Given the description of an element on the screen output the (x, y) to click on. 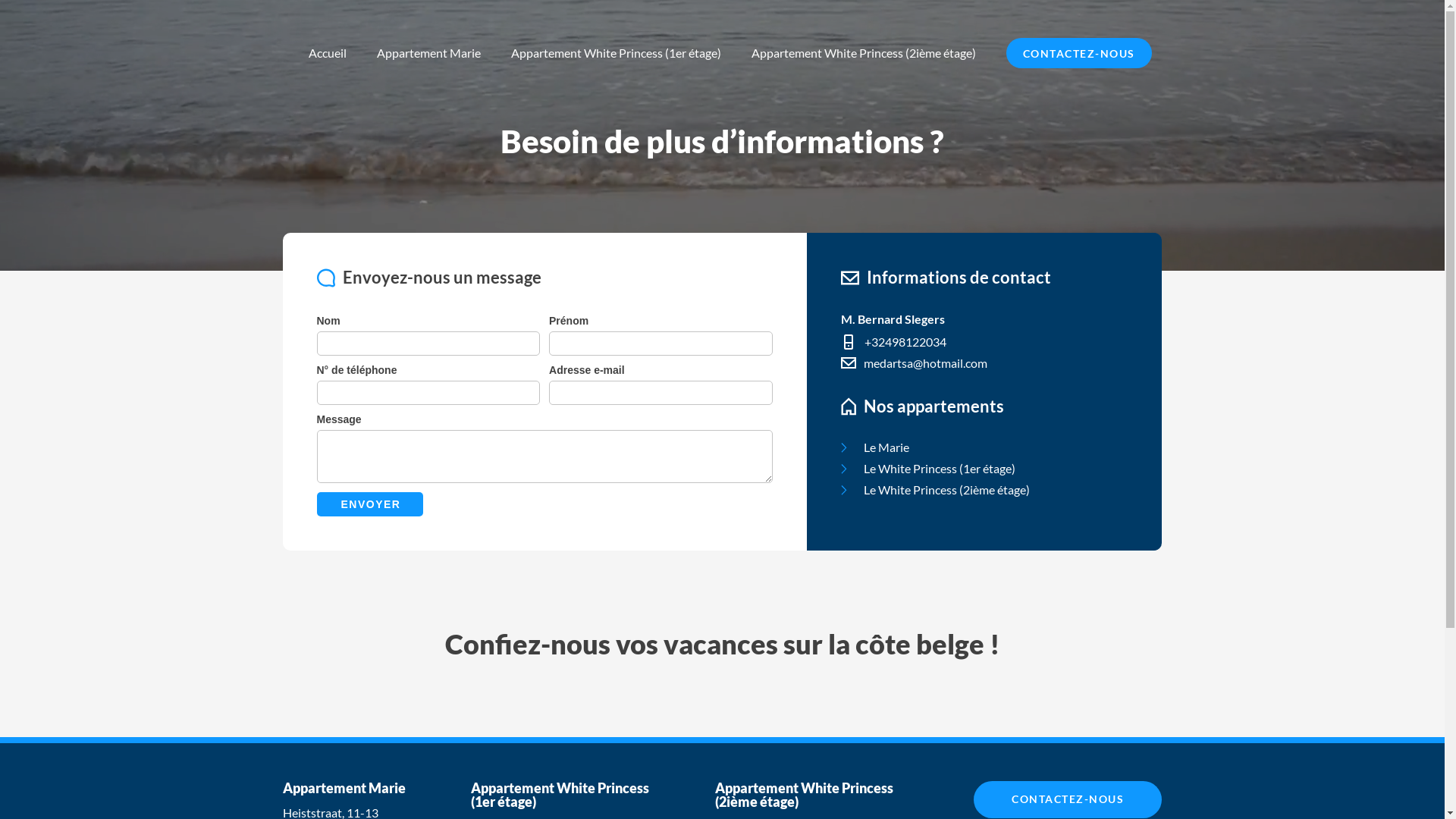
Appartement Marie Element type: text (427, 52)
CONTACTEZ-NOUS Element type: text (1067, 799)
CONTACTEZ-NOUS Element type: text (1078, 52)
Le Marie Element type: text (984, 447)
Envoyer Element type: text (369, 504)
Accueil Element type: text (326, 52)
